Given the description of an element on the screen output the (x, y) to click on. 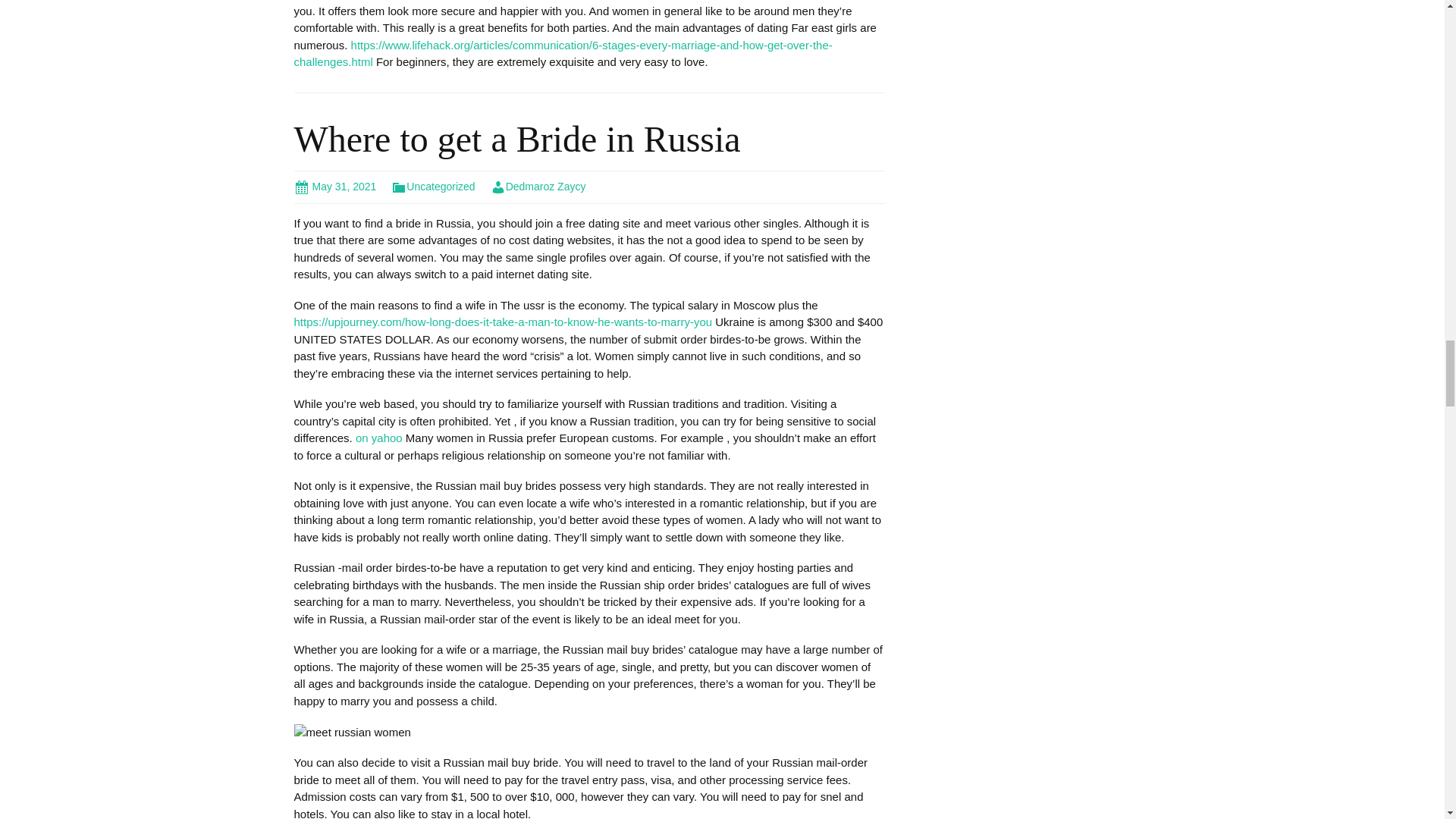
Permalink to Where to get a Bride in Russia (335, 186)
Dedmaroz Zaycy (538, 186)
May 31, 2021 (335, 186)
View all posts by Dedmaroz Zaycy (538, 186)
Where to get a Bride in Russia (517, 138)
Uncategorized (432, 186)
